Given the description of an element on the screen output the (x, y) to click on. 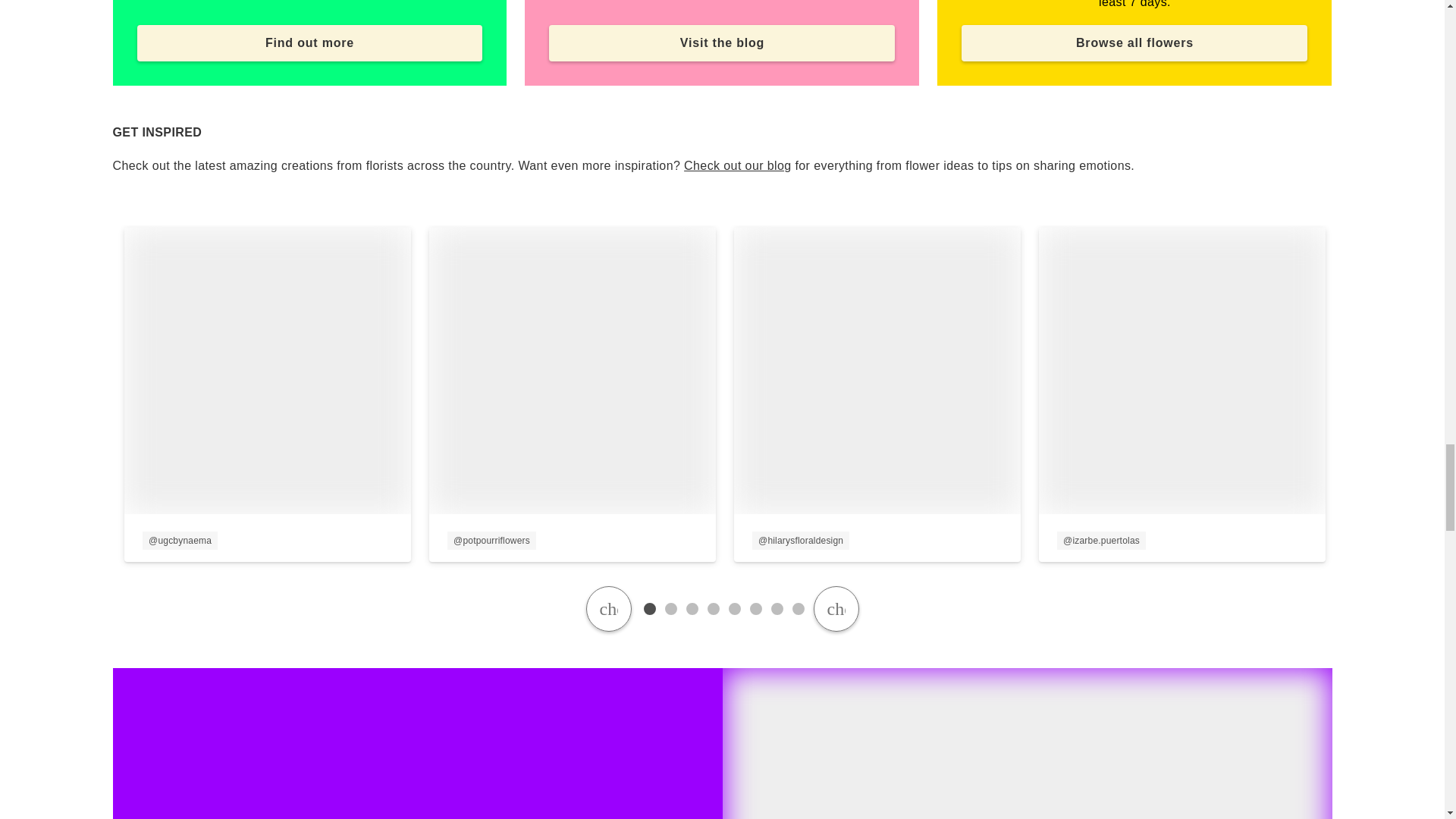
The Interflora blog (738, 164)
